Given the description of an element on the screen output the (x, y) to click on. 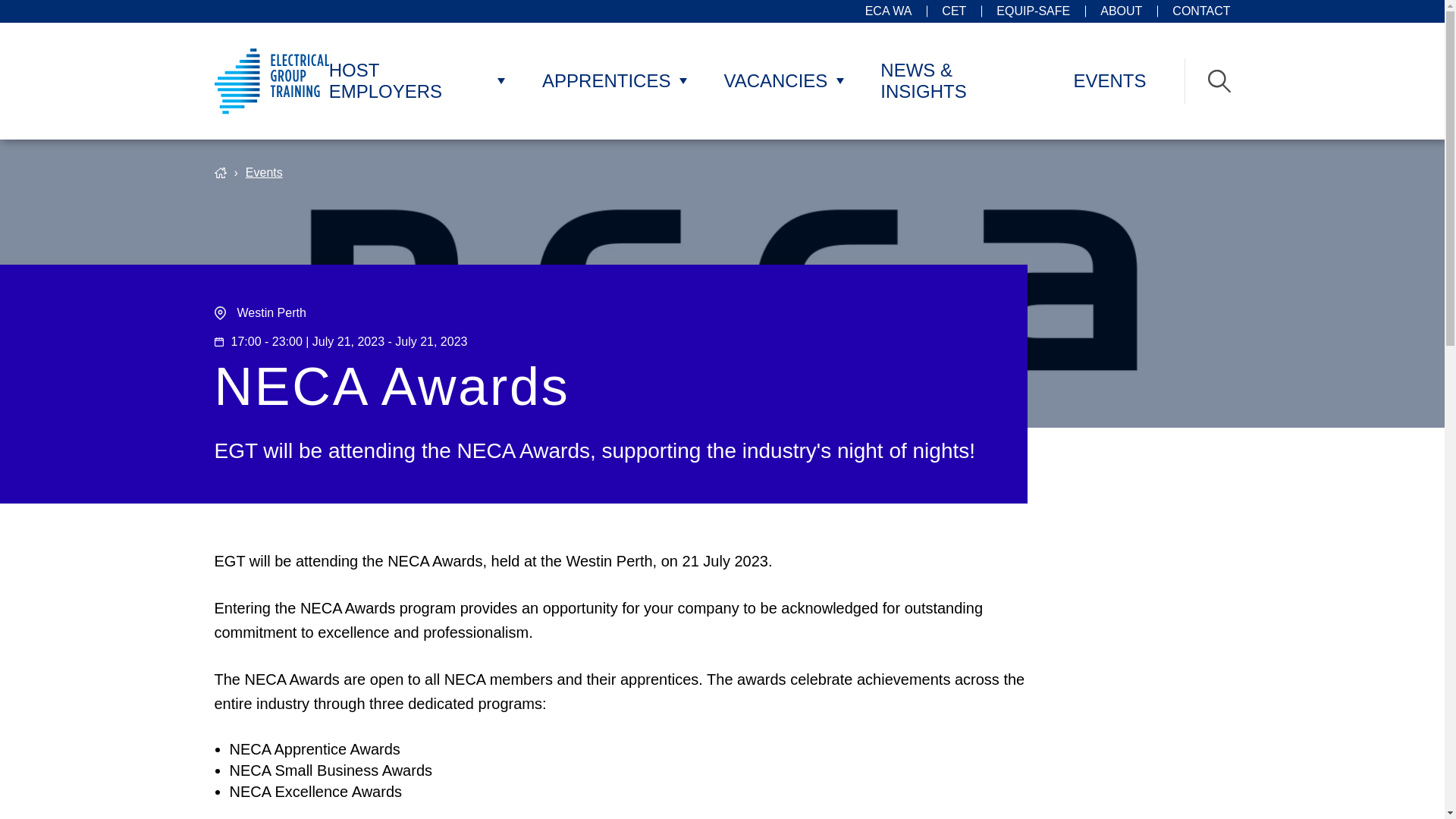
ECA WA (888, 11)
EVENTS (1109, 80)
CET (954, 11)
HOST EMPLOYERS (409, 80)
EQUIP-SAFE (1032, 11)
ABOUT (1120, 11)
Toggle submenu for Host Employers (501, 81)
Toggle submenu for Vacancies (839, 81)
VACANCIES (775, 80)
Toggle submenu for Apprentices (681, 81)
